Given the description of an element on the screen output the (x, y) to click on. 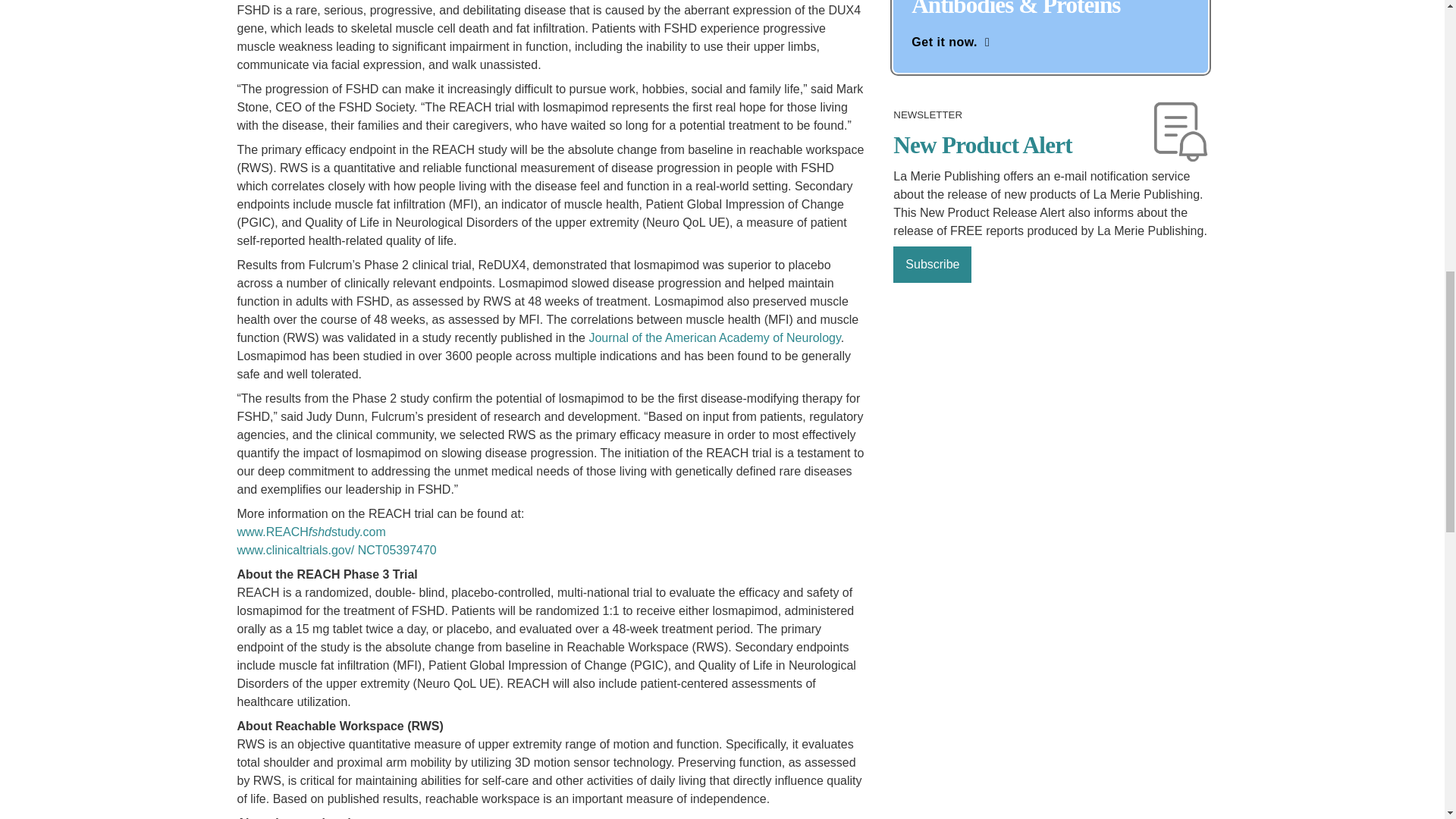
Journal of the American Academy of Neurology (714, 337)
